Given the description of an element on the screen output the (x, y) to click on. 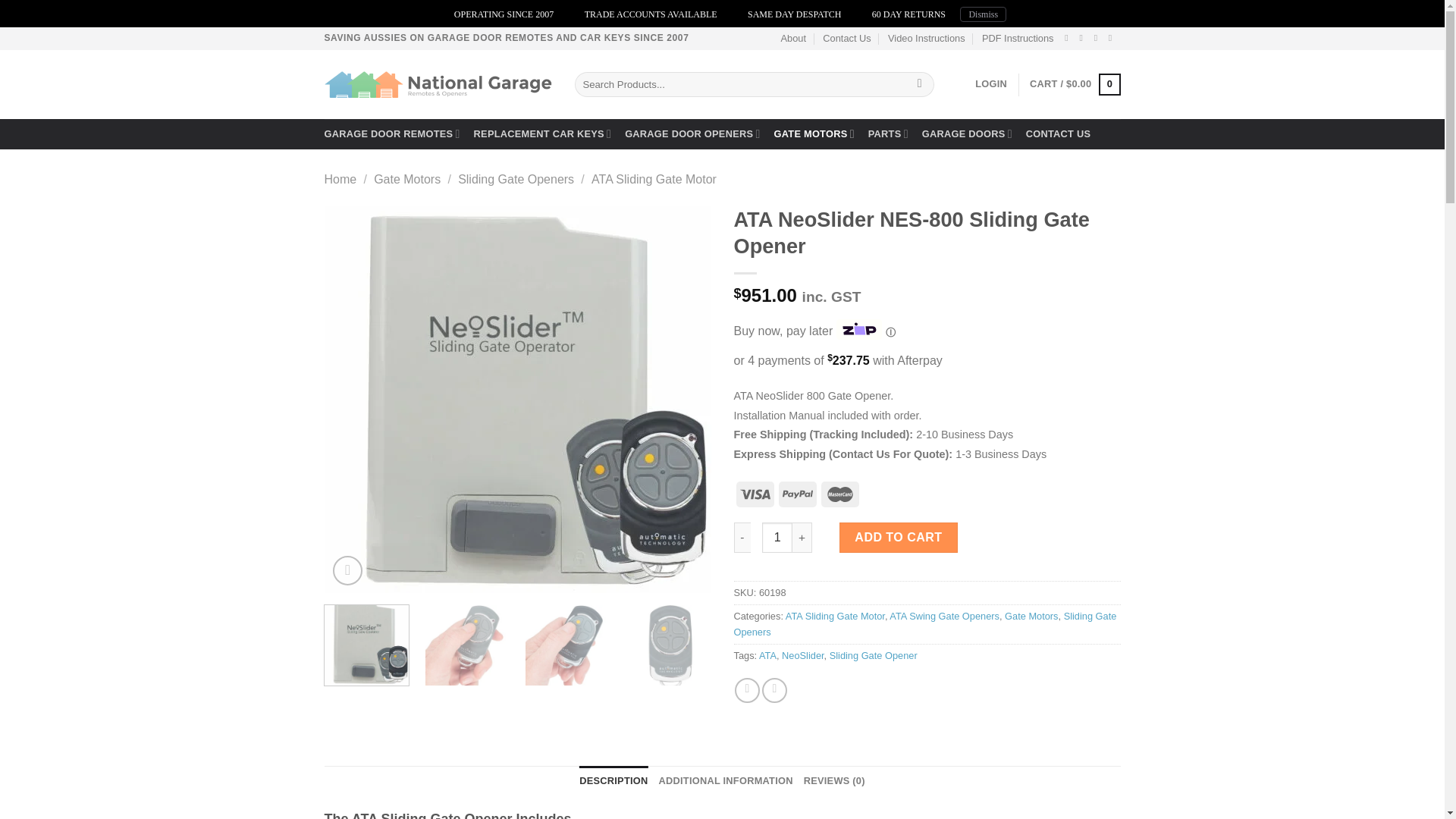
Video Instructions (926, 38)
Follow on Facebook (1069, 37)
Dismiss (982, 14)
Email to a Friend (774, 690)
Zip payment Information (888, 332)
Zoom (347, 570)
1 (776, 537)
Share on Facebook (747, 690)
Cart (1074, 84)
LOGIN (991, 83)
Send us an email (1082, 37)
GARAGE DOOR REMOTES (392, 133)
Search (919, 84)
PDF Instructions (1017, 38)
